Given the description of an element on the screen output the (x, y) to click on. 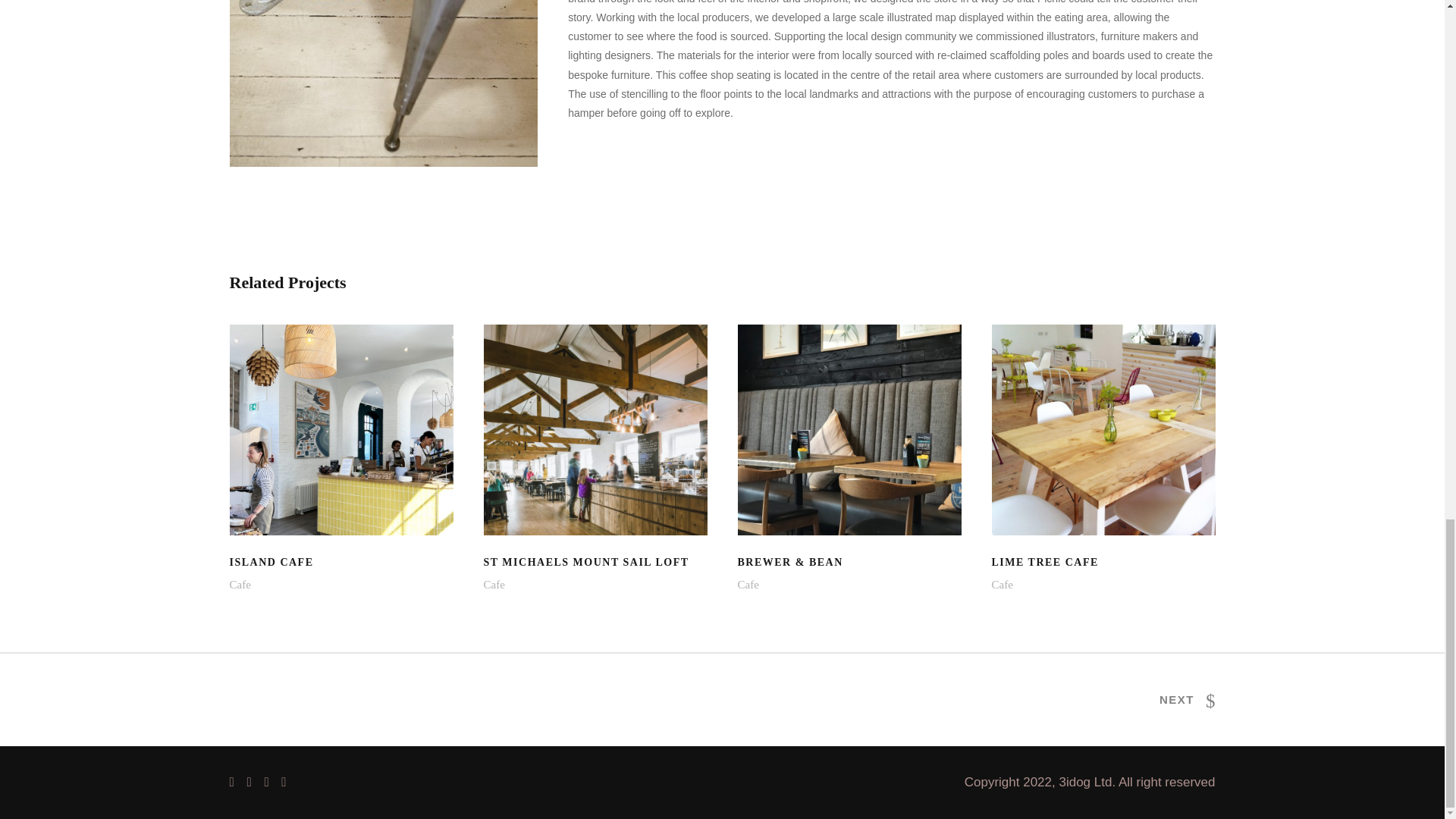
Image 3 (1103, 429)
Sail Loft (595, 429)
Cafe (848, 429)
Island Cafe (340, 429)
Image 07 (382, 83)
